Given the description of an element on the screen output the (x, y) to click on. 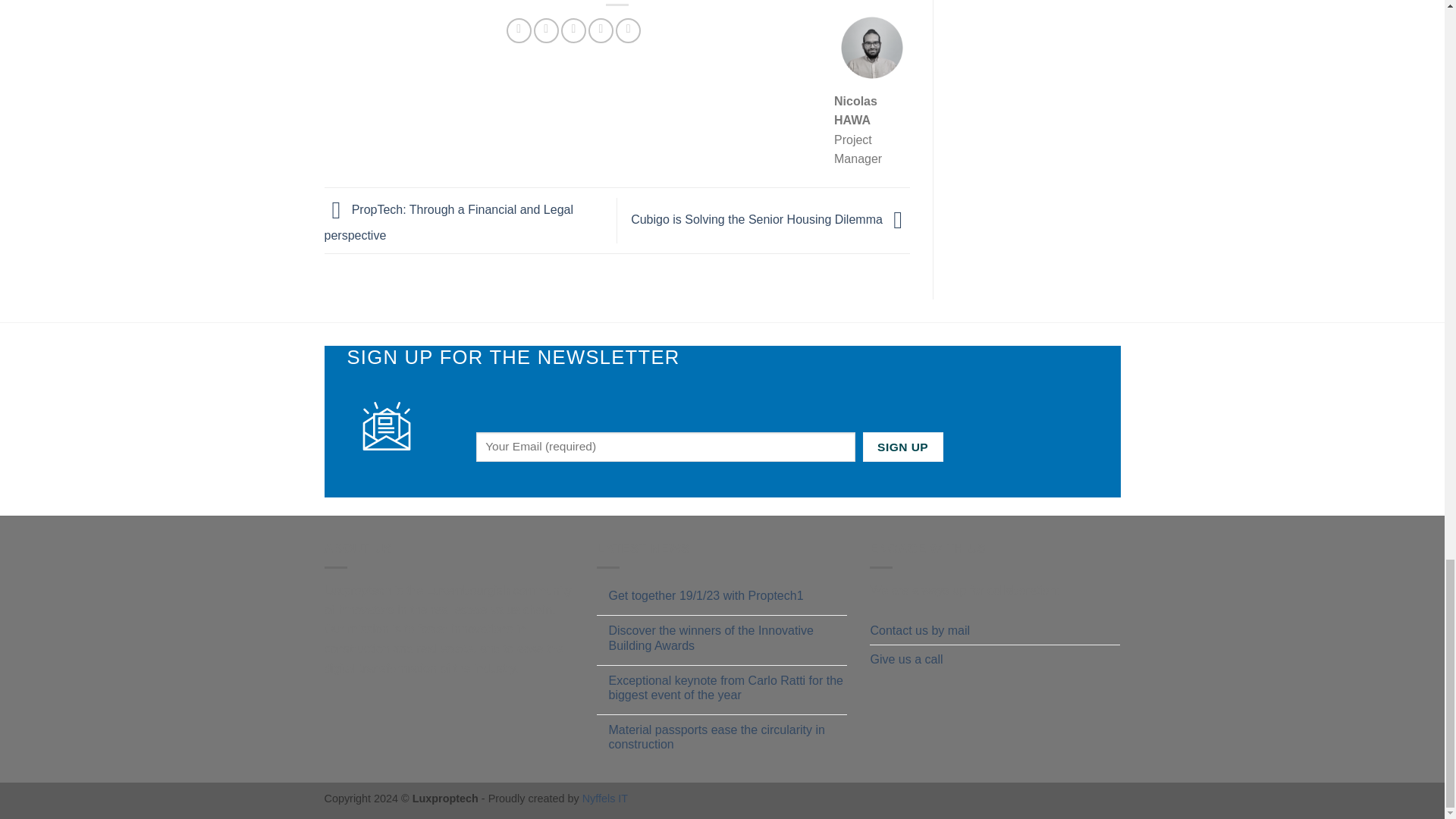
Cubigo is Solving the Senior Housing Dilemma (770, 219)
Share on Twitter (546, 30)
PropTech: Through a Financial and Legal perspective (448, 222)
Sign Up (903, 446)
Sign Up (903, 446)
Share on Facebook (518, 30)
Email to a Friend (573, 30)
Pin on Pinterest (600, 30)
Share on LinkedIn (627, 30)
